Given the description of an element on the screen output the (x, y) to click on. 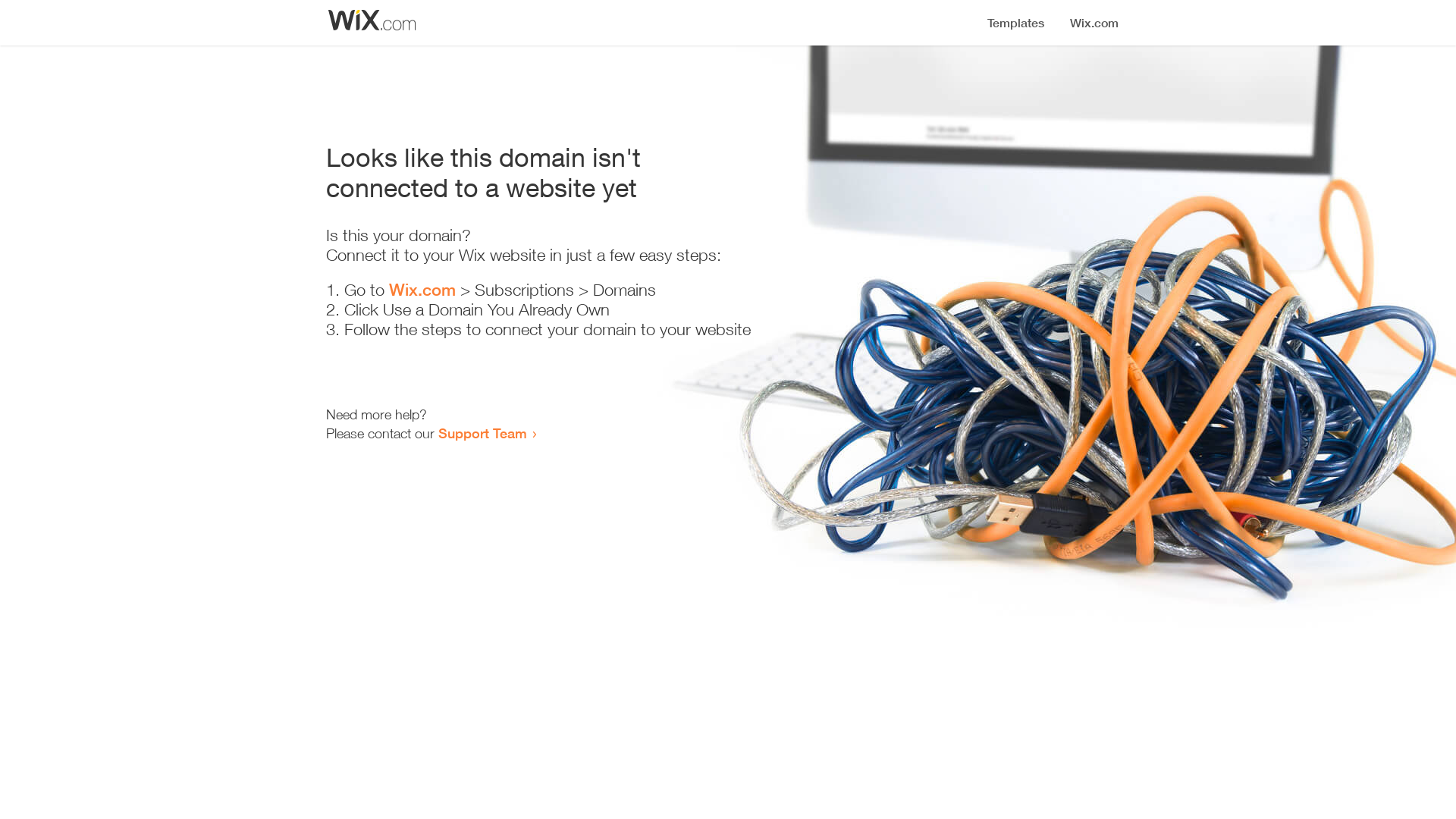
Wix.com Element type: text (422, 289)
Support Team Element type: text (482, 432)
